Given the description of an element on the screen output the (x, y) to click on. 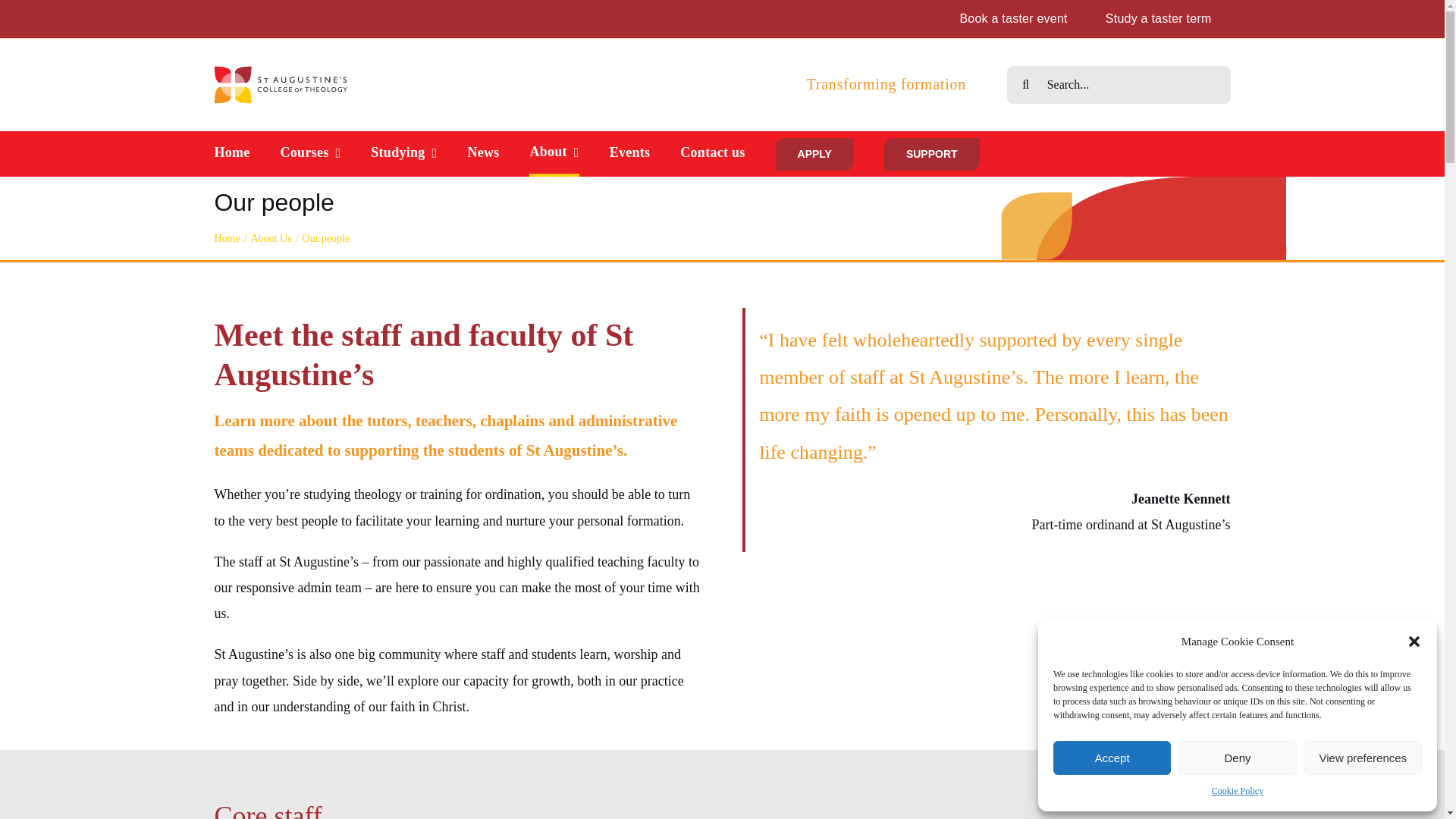
Accept (1111, 757)
Deny (1236, 757)
Cookie Policy (1237, 791)
View preferences (1363, 757)
Study a taster term (1158, 18)
Book a taster event (1013, 18)
Courses (310, 153)
